Given the description of an element on the screen output the (x, y) to click on. 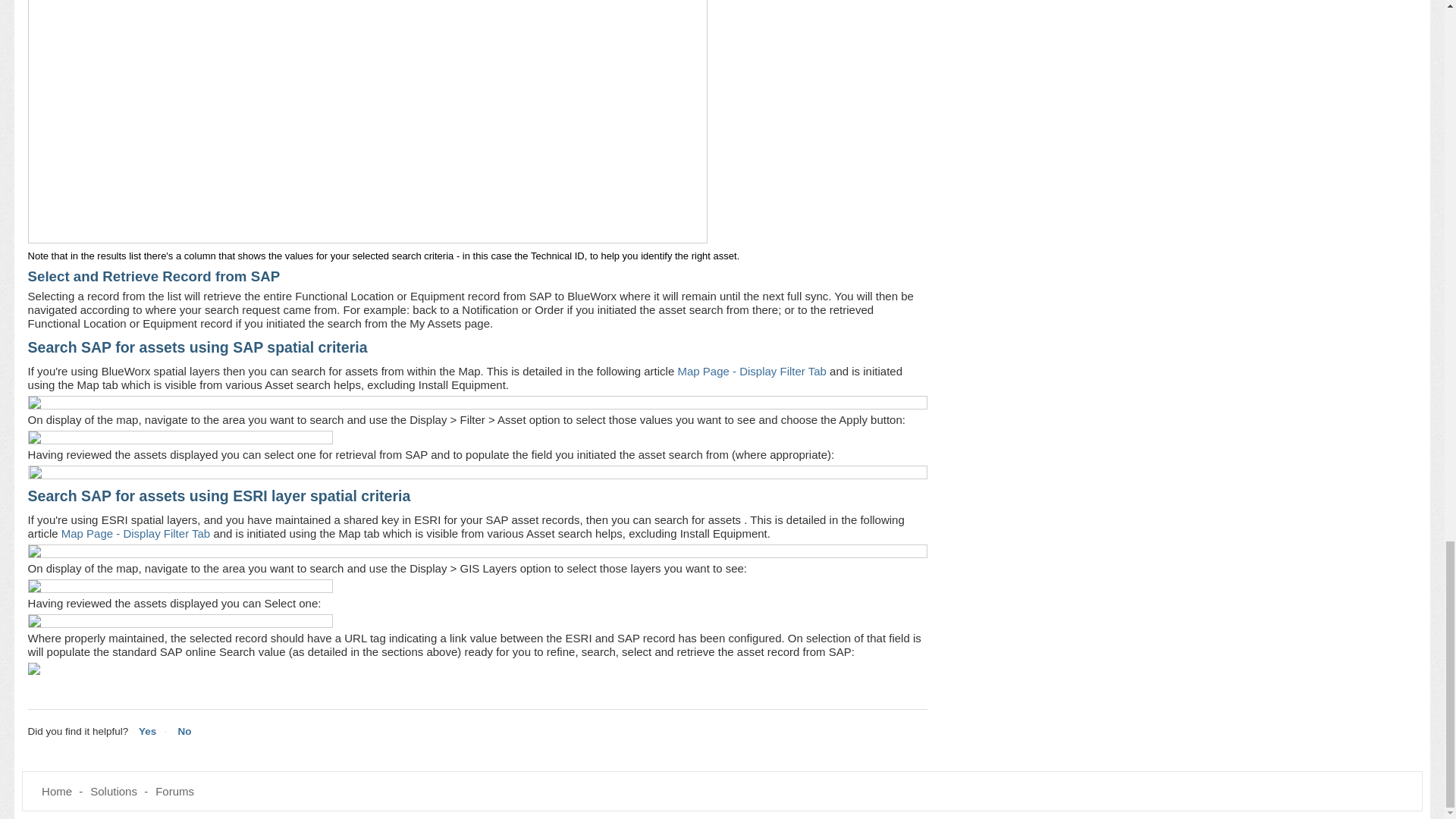
Forums (174, 790)
Map Page - Display Filter Tab (135, 533)
Home (56, 790)
Map Page - Display Filter Tab (751, 370)
Solutions (113, 790)
